Given the description of an element on the screen output the (x, y) to click on. 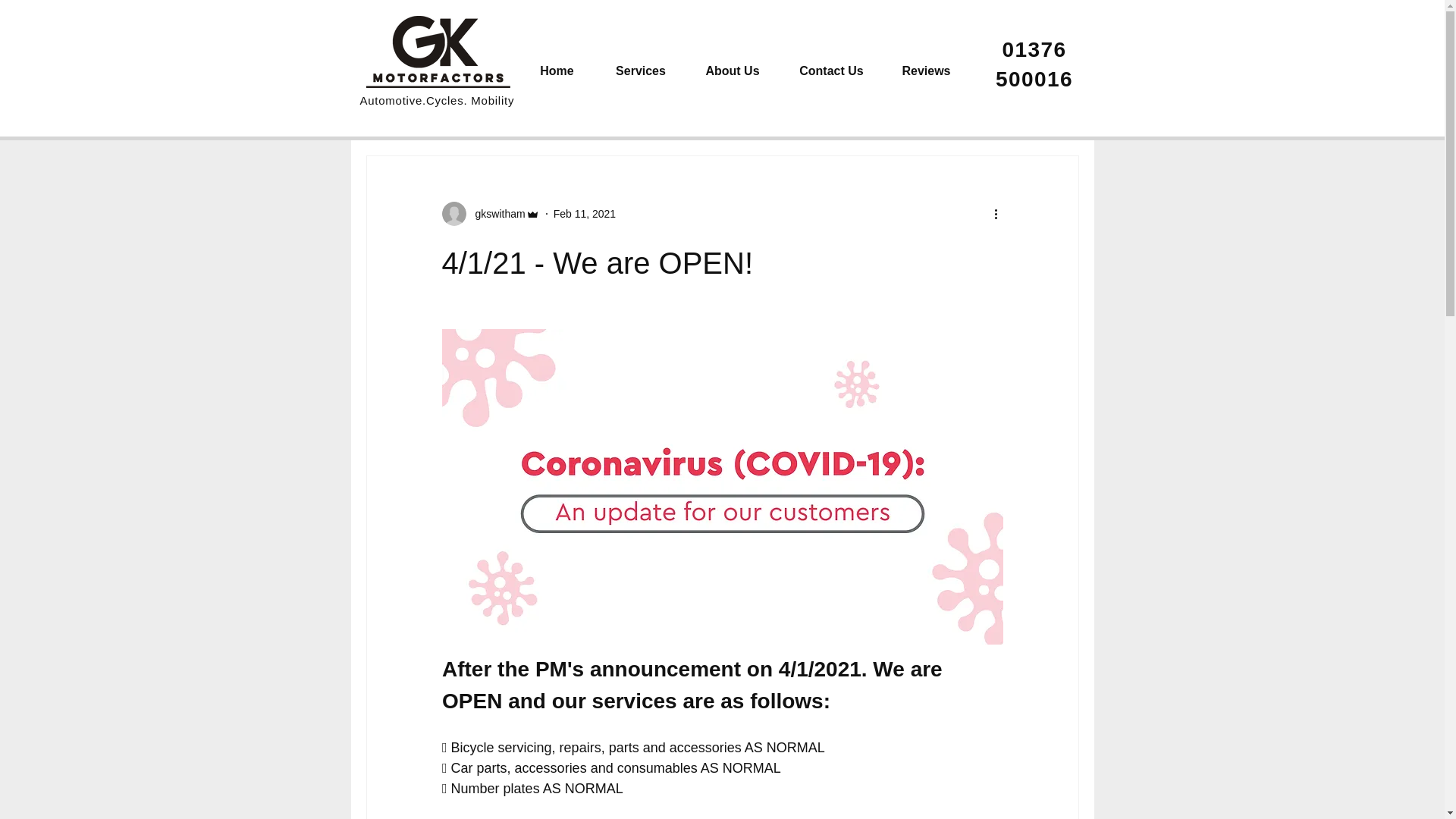
Automotive.Cycles. Mobility (436, 100)
gkswitham (494, 213)
Gk's Logo (437, 51)
Reviews (925, 70)
Home (555, 70)
About Us (732, 70)
Services (639, 70)
Contact Us (830, 70)
Feb 11, 2021 (584, 214)
